Given the description of an element on the screen output the (x, y) to click on. 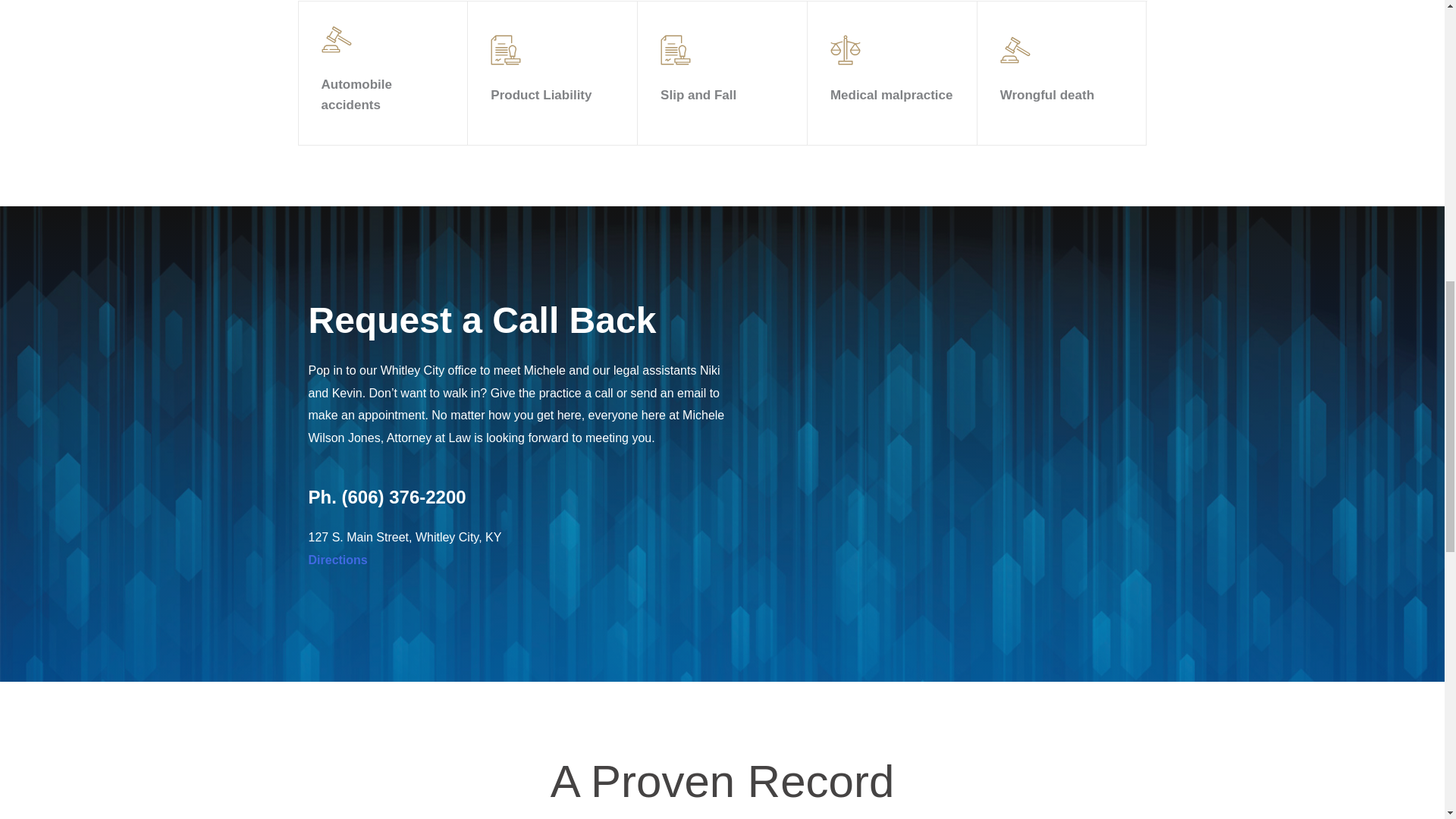
Directions (336, 559)
